Given the description of an element on the screen output the (x, y) to click on. 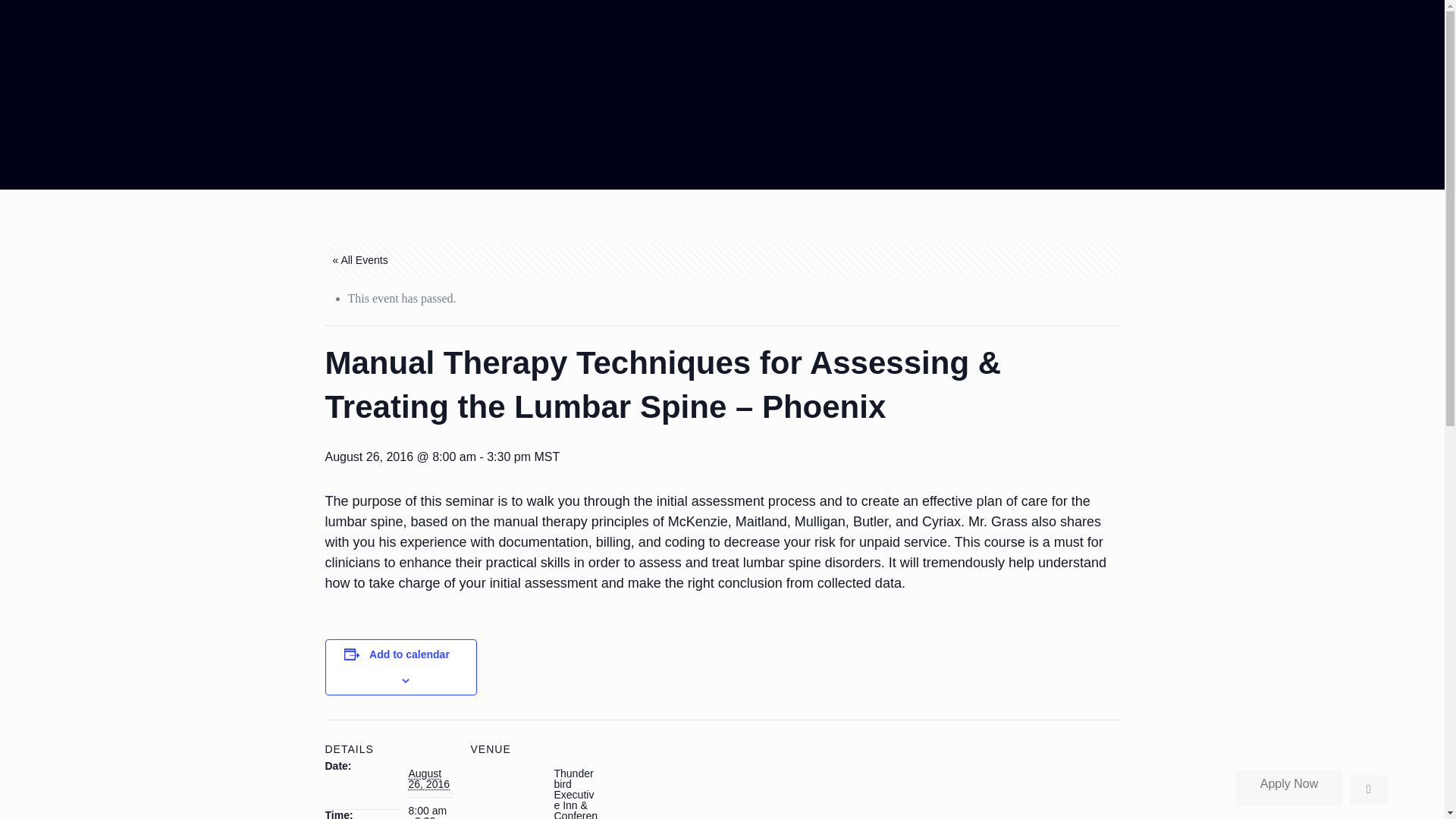
2016-08-26 (429, 812)
2016-08-26 (428, 778)
Add to calendar (409, 654)
